Given the description of an element on the screen output the (x, y) to click on. 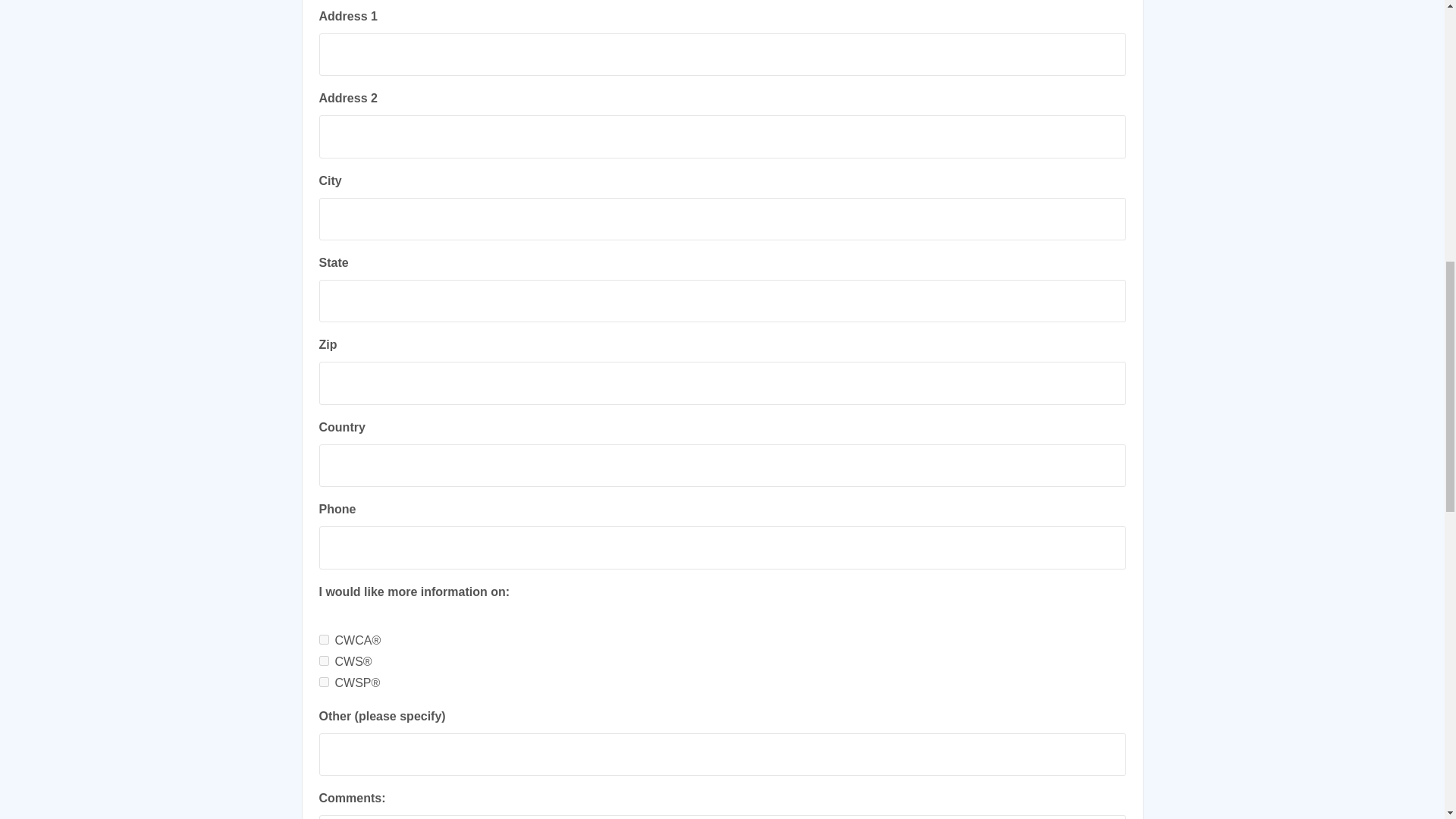
CWCA (323, 638)
CWS (323, 660)
CWSP (323, 681)
